Given the description of an element on the screen output the (x, y) to click on. 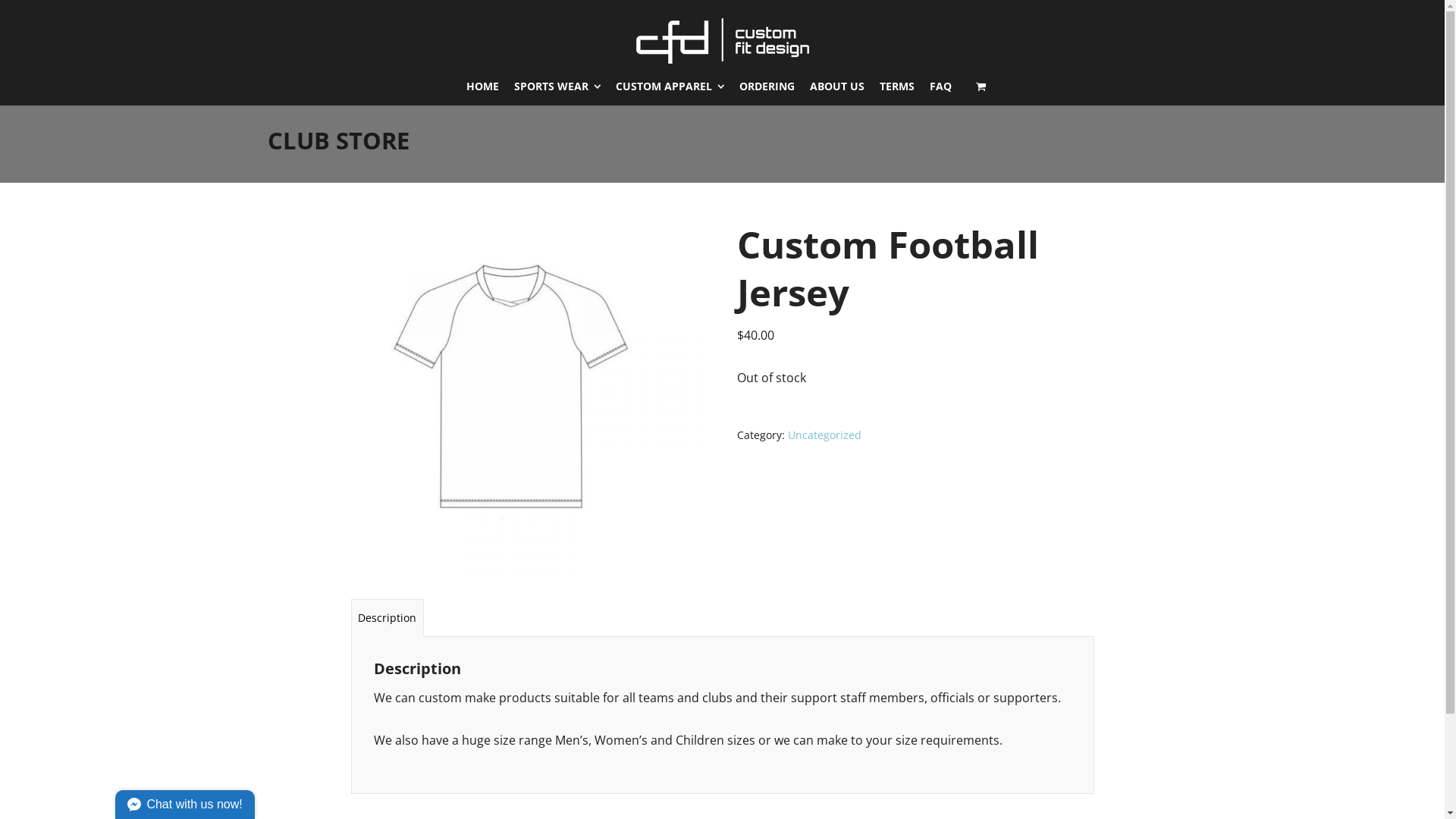
View your shopping cart Element type: hover (980, 86)
Soccer 1 Element type: hover (528, 398)
ORDERING Element type: text (766, 86)
HOME Element type: text (482, 86)
Uncategorized Element type: text (824, 434)
TERMS Element type: text (897, 86)
CUSTOM APPAREL Element type: text (669, 86)
ABOUT US Element type: text (837, 86)
Description Element type: text (386, 617)
FAQ Element type: text (940, 86)
SPORTS WEAR Element type: text (557, 86)
